Given the description of an element on the screen output the (x, y) to click on. 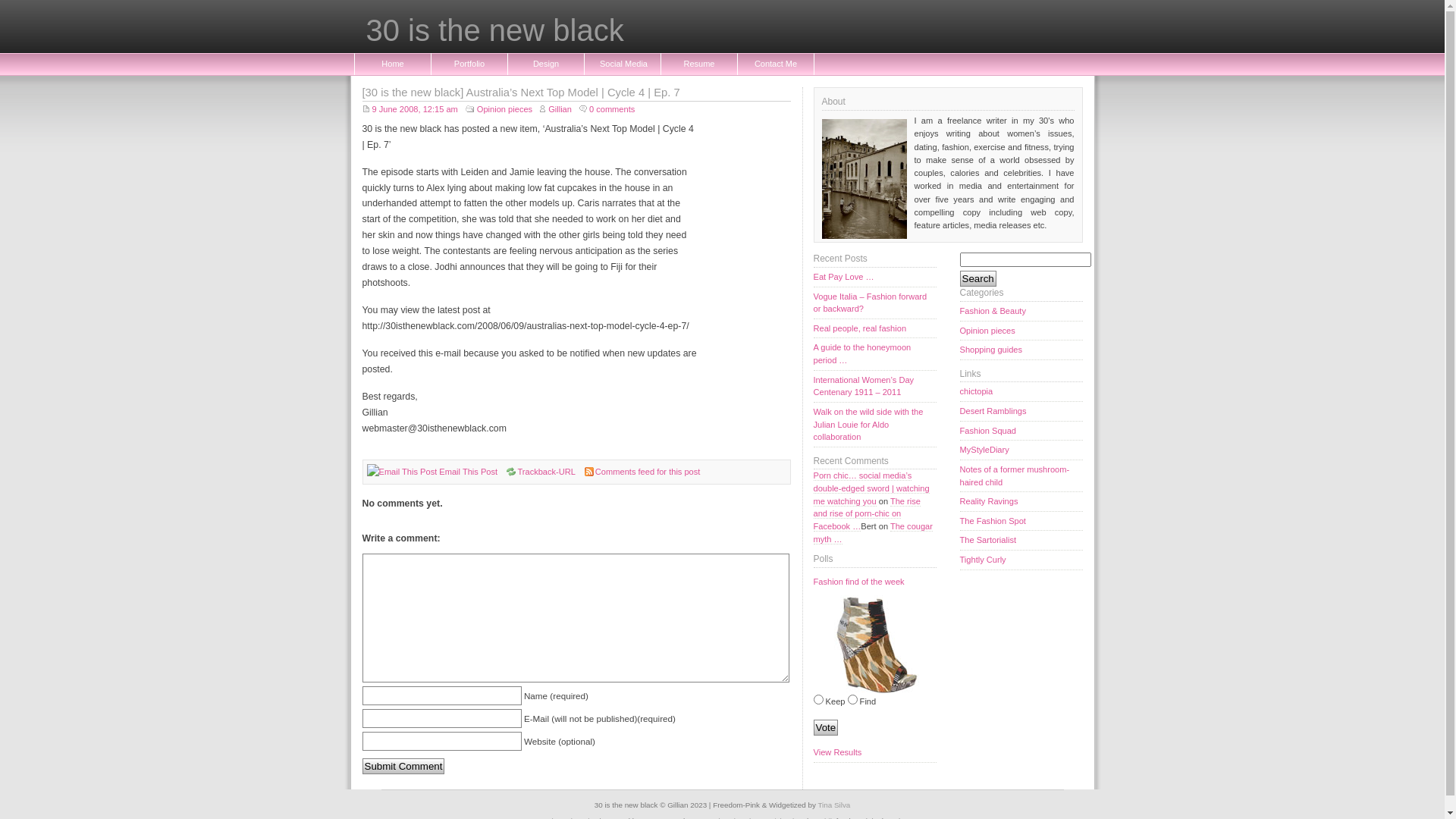
30 is the new black Element type: text (721, 26)
Search Element type: text (978, 278)
chictopia Element type: text (1021, 391)
Home Element type: text (392, 64)
Gillian Element type: text (555, 108)
Tina Silva Element type: text (833, 804)
Submit Comment Element type: text (403, 766)
The Fashion Spot Element type: text (1021, 521)
Trackback-URL Element type: text (540, 471)
Opinion pieces Element type: text (1021, 331)
Resume Element type: text (699, 64)
MyStyleDiary Element type: text (1021, 450)
Desert Ramblings Element type: text (1021, 411)
Design Element type: text (545, 64)
Email This Post Element type: hover (402, 472)
Real people, real fashion Element type: text (873, 328)
0 comments Element type: text (606, 108)
Email This Post Element type: hover (402, 471)
Notes of a former mushroom-haired child Element type: text (1021, 476)
Comments feed for this post Element type: text (647, 471)
Email This Post Element type: text (468, 471)
30 is the new black Element type: text (729, 34)
Portfolio Element type: text (469, 64)
Vote Element type: text (824, 727)
Shopping guides Element type: text (1021, 350)
Contact Me Element type: text (775, 64)
View Results Element type: text (873, 752)
Opinion pieces Element type: text (504, 108)
Fashion Squad Element type: text (1021, 431)
Social Media Element type: text (622, 64)
The Sartorialist Element type: text (1021, 540)
Tightly Curly Element type: text (1021, 560)
Reality Ravings Element type: text (1021, 501)
Fashion & Beauty Element type: text (1021, 311)
